Given the description of an element on the screen output the (x, y) to click on. 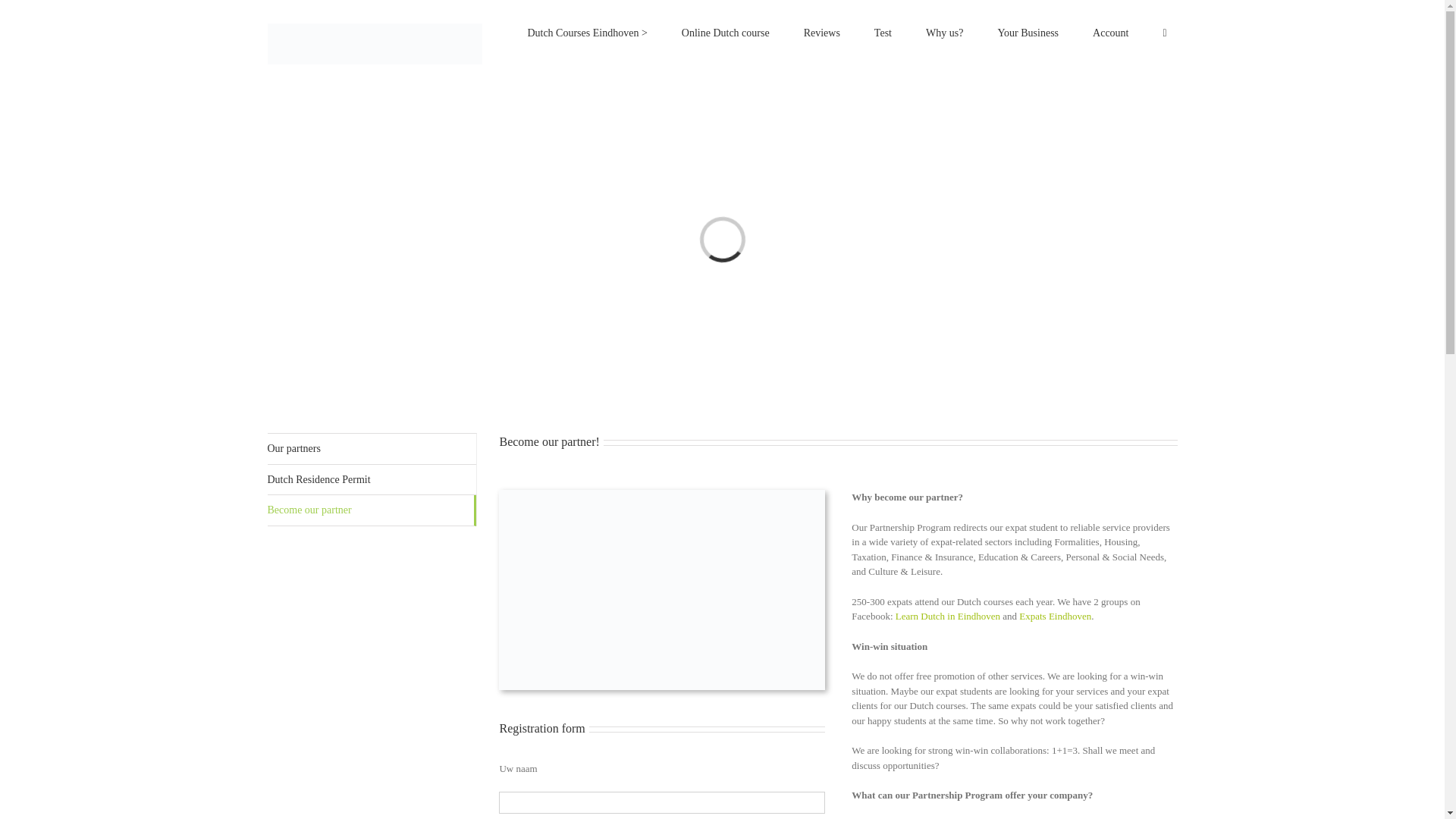
Dutch-Course-Eindhoven-Job (642, 577)
Your Business (1027, 31)
Back to Parent Page (371, 449)
Become our partner! (837, 461)
Online Dutch course (725, 31)
